Given the description of an element on the screen output the (x, y) to click on. 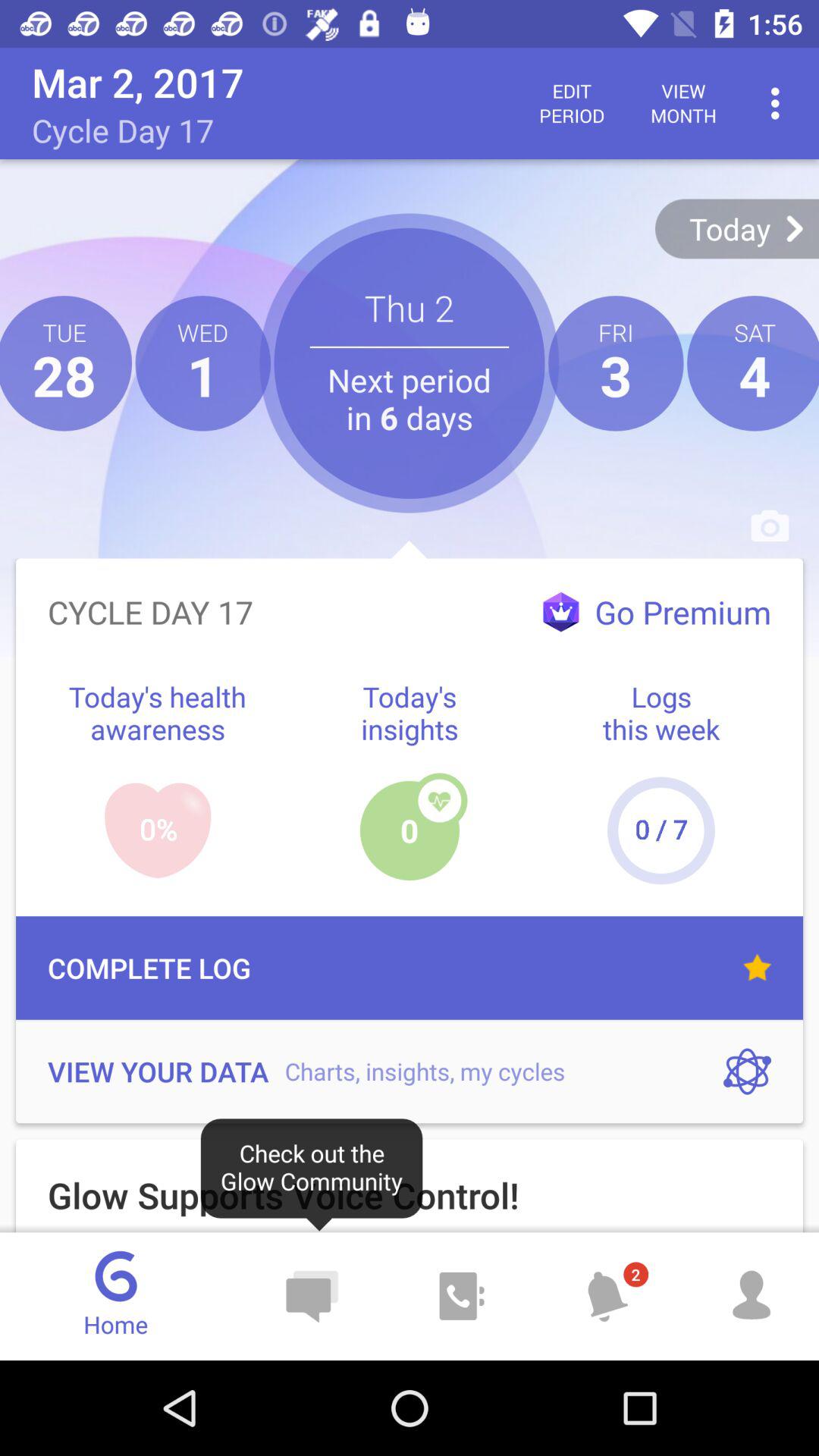
click on the camera (769, 525)
click on the text above logs this week (656, 612)
click on blue text left to todays insights (157, 713)
